Given the description of an element on the screen output the (x, y) to click on. 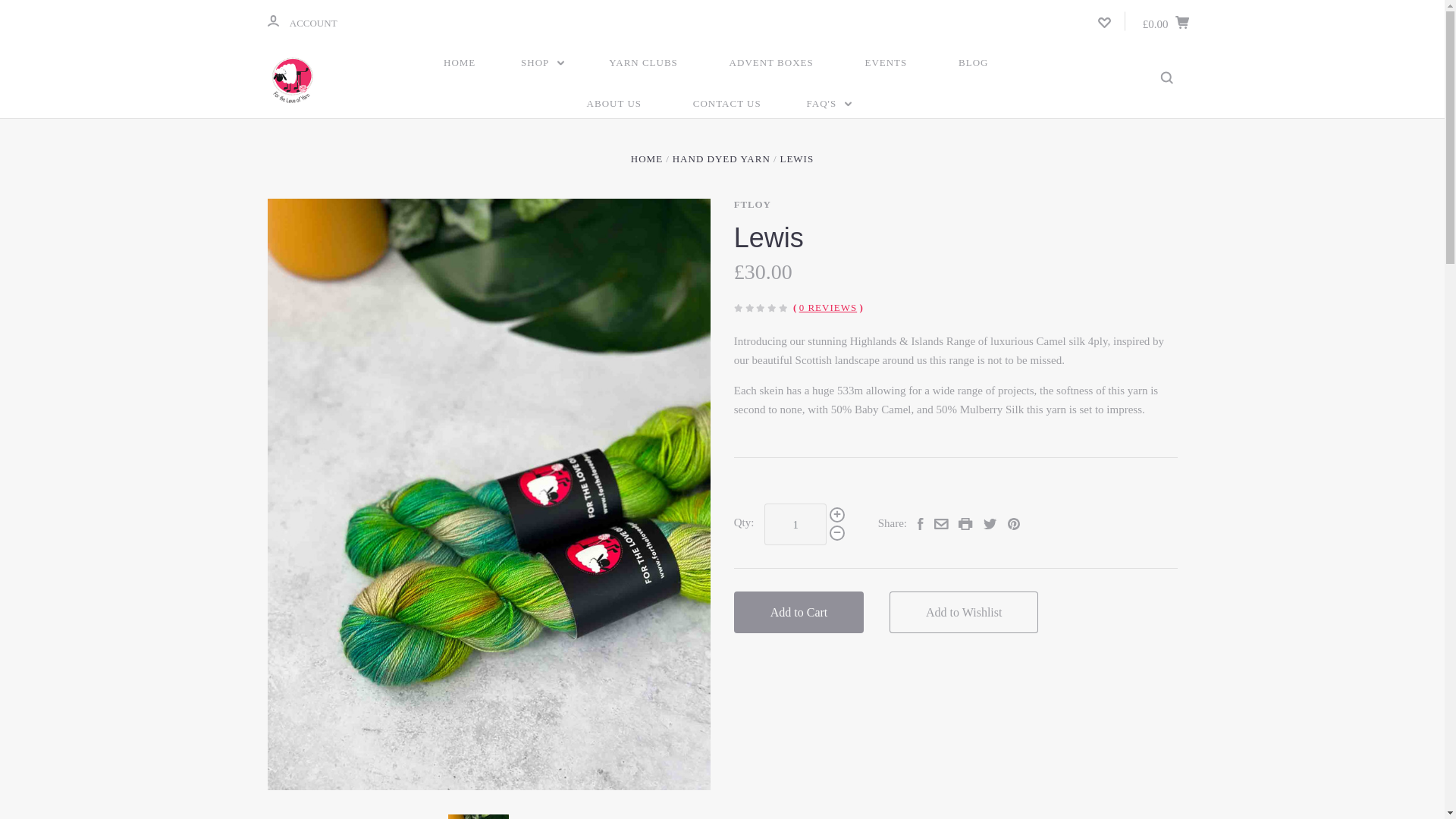
email (941, 523)
ACCOUNT ACCOUNT (301, 21)
wishlist (1103, 22)
twitter (990, 523)
ACCOUNT (272, 20)
cart (1181, 21)
Lewis (478, 816)
HOME (459, 62)
1 (795, 524)
printer (965, 523)
